Given the description of an element on the screen output the (x, y) to click on. 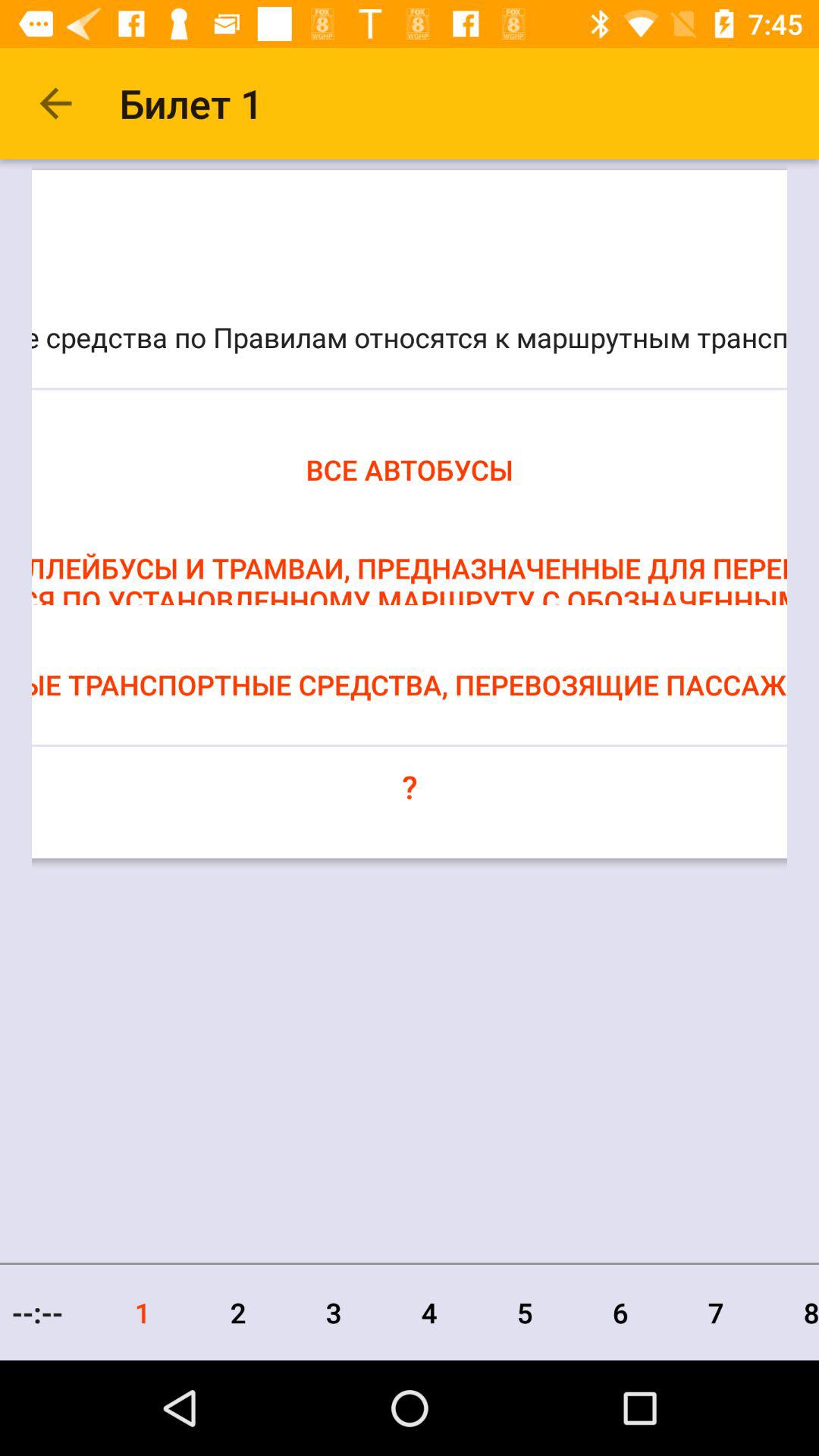
click item to the left of 8 icon (715, 1312)
